Given the description of an element on the screen output the (x, y) to click on. 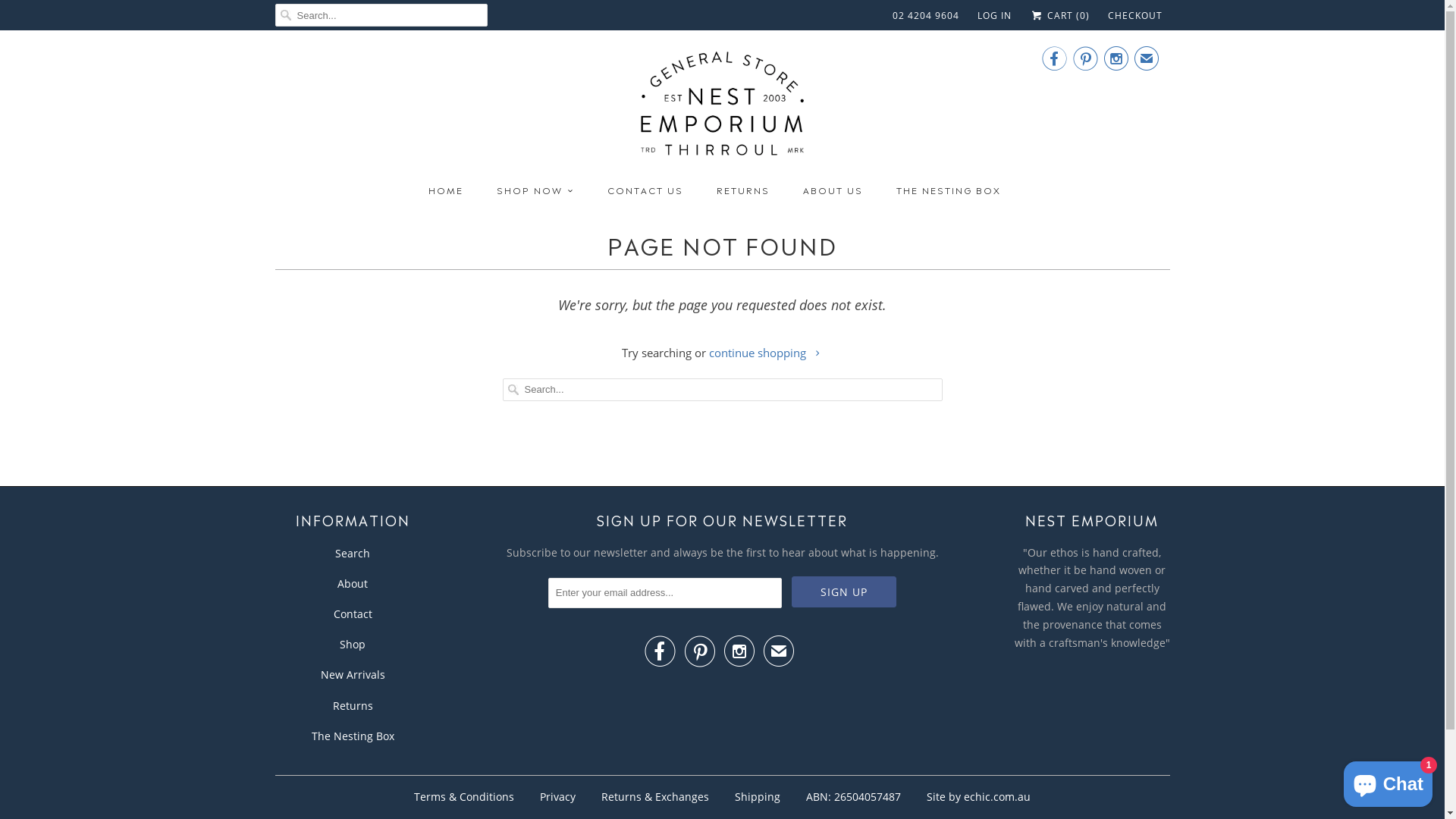
Sign Up Element type: text (843, 591)
Nest Emporium  Element type: hover (722, 108)
Returns Element type: text (352, 705)
New Arrivals Element type: text (352, 674)
02 4204 9604 Element type: text (925, 15)
Terms & Conditions Element type: text (464, 796)
About Element type: text (352, 583)
Returns & Exchanges Element type: text (655, 796)
ABN: 26504057487 Element type: text (853, 796)
CART (0) Element type: text (1058, 14)
Shopify online store chat Element type: hover (1388, 780)
HOME Element type: text (445, 189)
Contact Element type: text (352, 613)
Shop Element type: text (352, 644)
ABOUT US Element type: text (832, 189)
The Nesting Box Element type: text (351, 735)
CHECKOUT Element type: text (1134, 15)
Site by echic.com.au Element type: text (978, 796)
SHOP NOW Element type: text (534, 189)
CONTACT US Element type: text (645, 189)
THE NESTING BOX Element type: text (948, 189)
continue shopping Element type: text (765, 352)
Search Element type: text (352, 553)
Shipping Element type: text (757, 796)
Privacy Element type: text (557, 796)
RETURNS Element type: text (742, 189)
LOG IN Element type: text (994, 15)
